Given the description of an element on the screen output the (x, y) to click on. 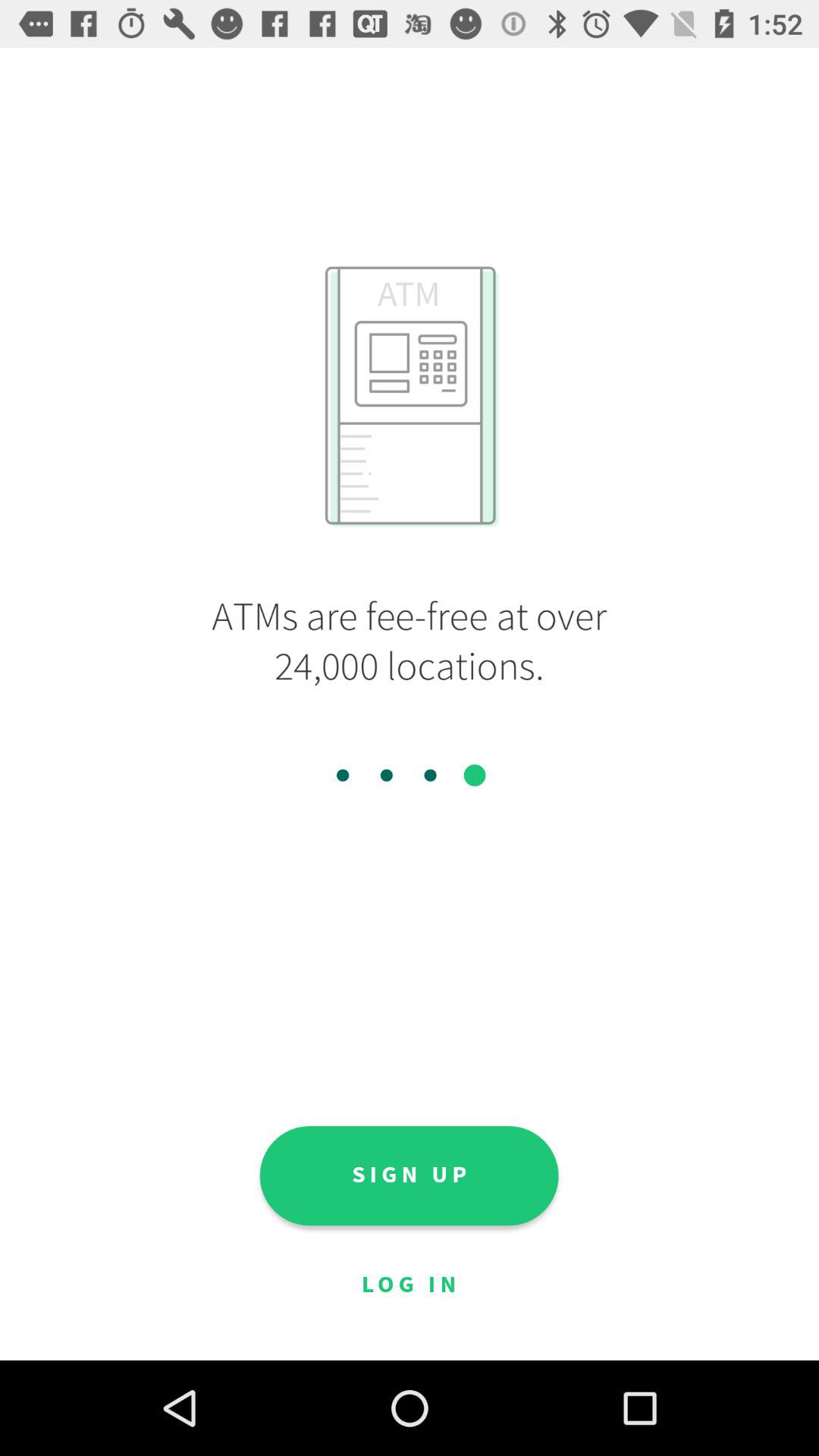
scroll to the sign up item (408, 1175)
